Given the description of an element on the screen output the (x, y) to click on. 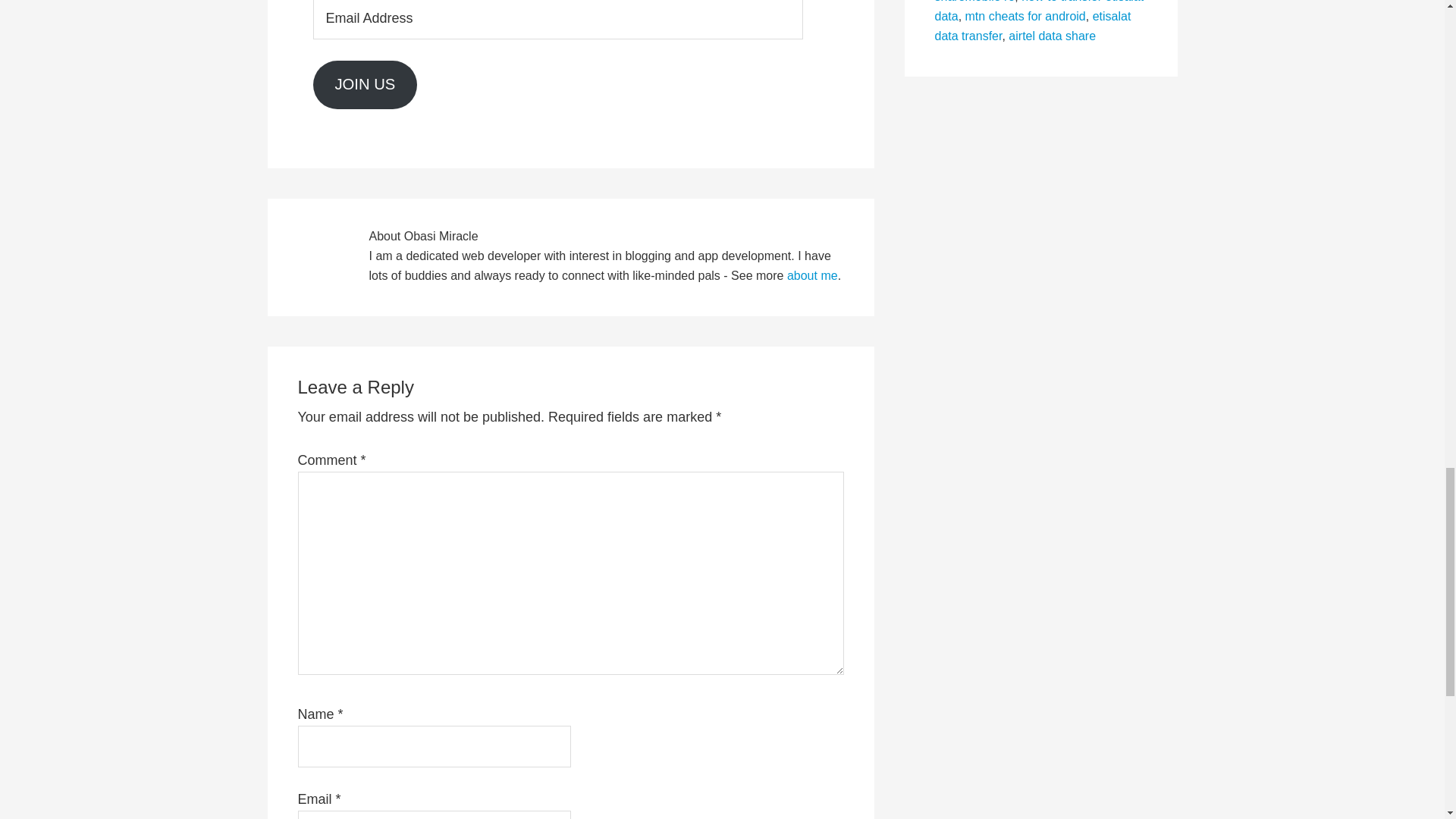
about me (812, 275)
JOIN US (364, 84)
